Given the description of an element on the screen output the (x, y) to click on. 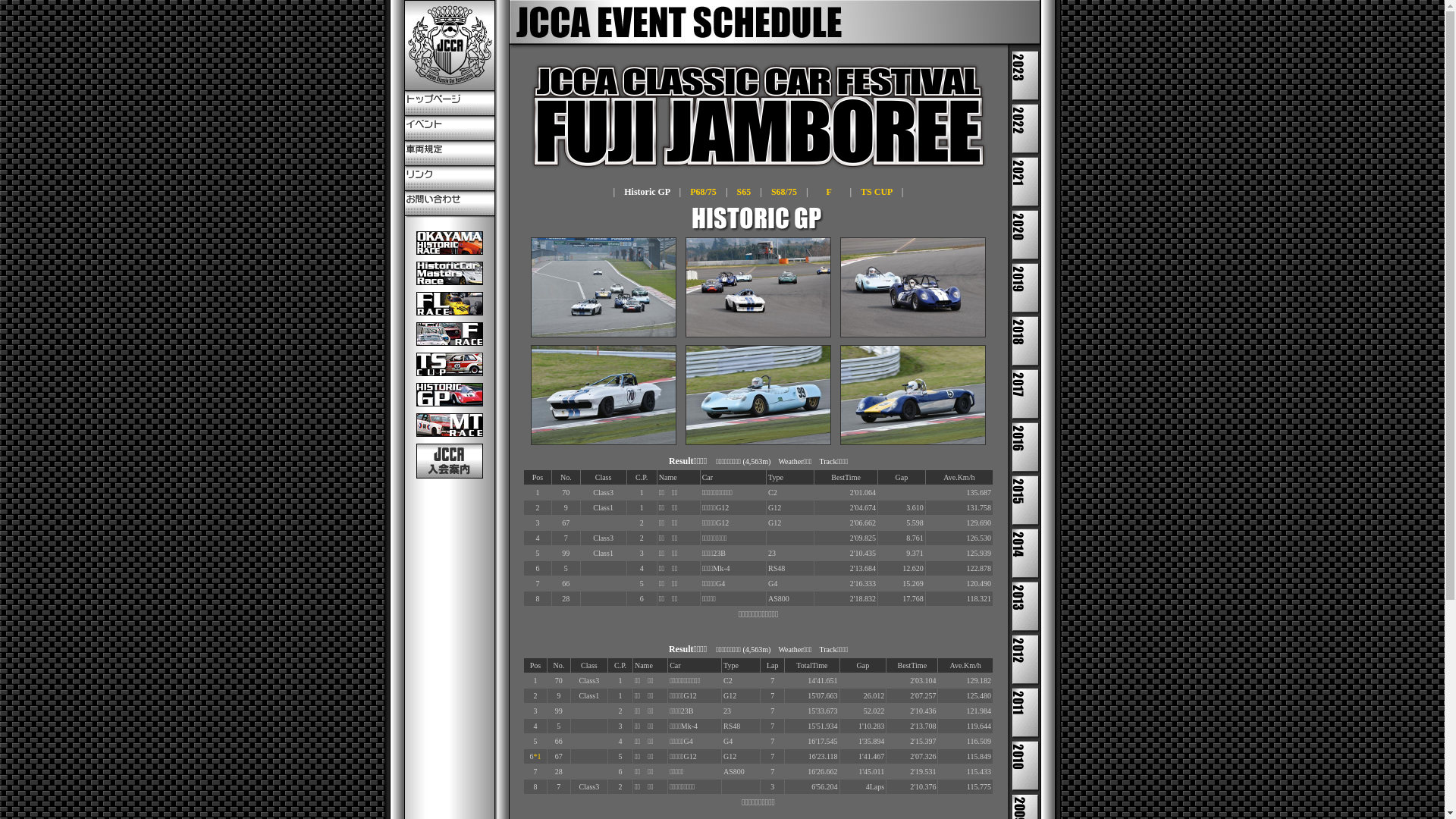
TS CUP Element type: text (876, 191)
S68/75 Element type: text (784, 191)
P68/75 Element type: text (703, 191)
S65 Element type: text (744, 191)
F Element type: text (828, 191)
